Given the description of an element on the screen output the (x, y) to click on. 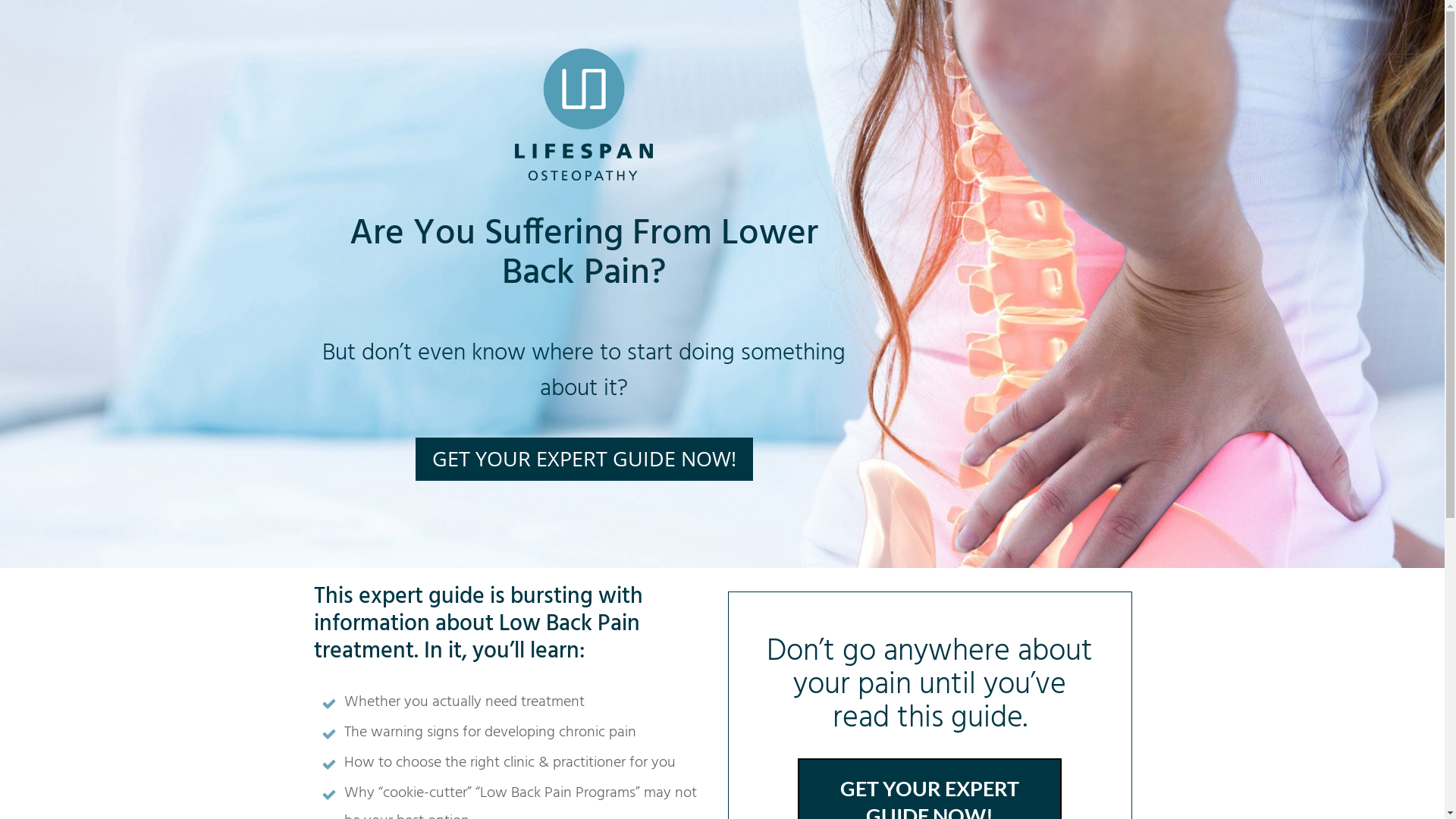
GET YOUR EXPERT GUIDE NOW! Element type: text (584, 458)
life span logo small Element type: hover (583, 114)
